Given the description of an element on the screen output the (x, y) to click on. 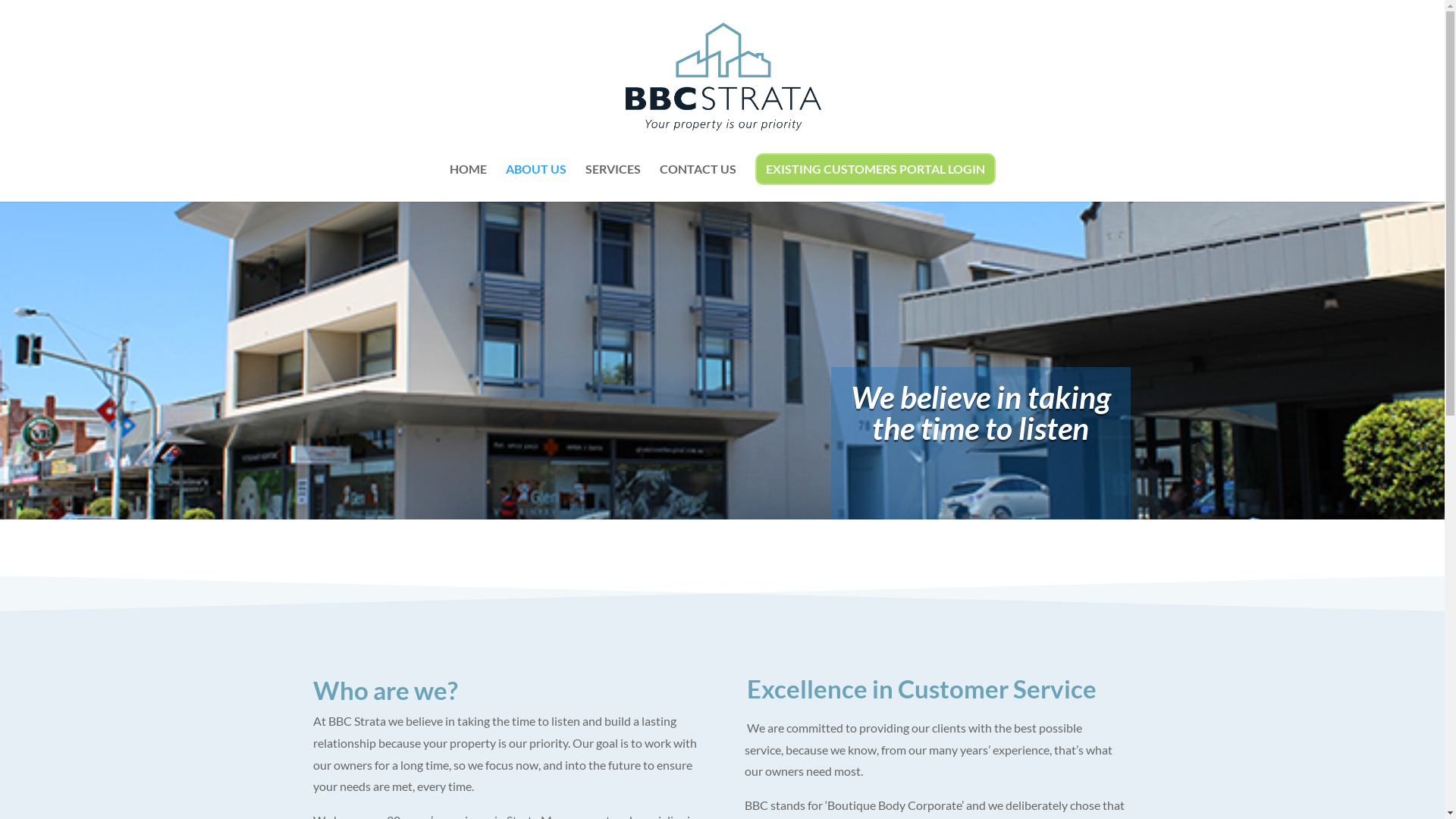
CONTACT US Element type: text (697, 182)
HOME Element type: text (467, 182)
ABOUT US Element type: text (535, 182)
SERVICES Element type: text (612, 182)
EXISTING CUSTOMERS PORTAL LOGIN Element type: text (875, 169)
